Given the description of an element on the screen output the (x, y) to click on. 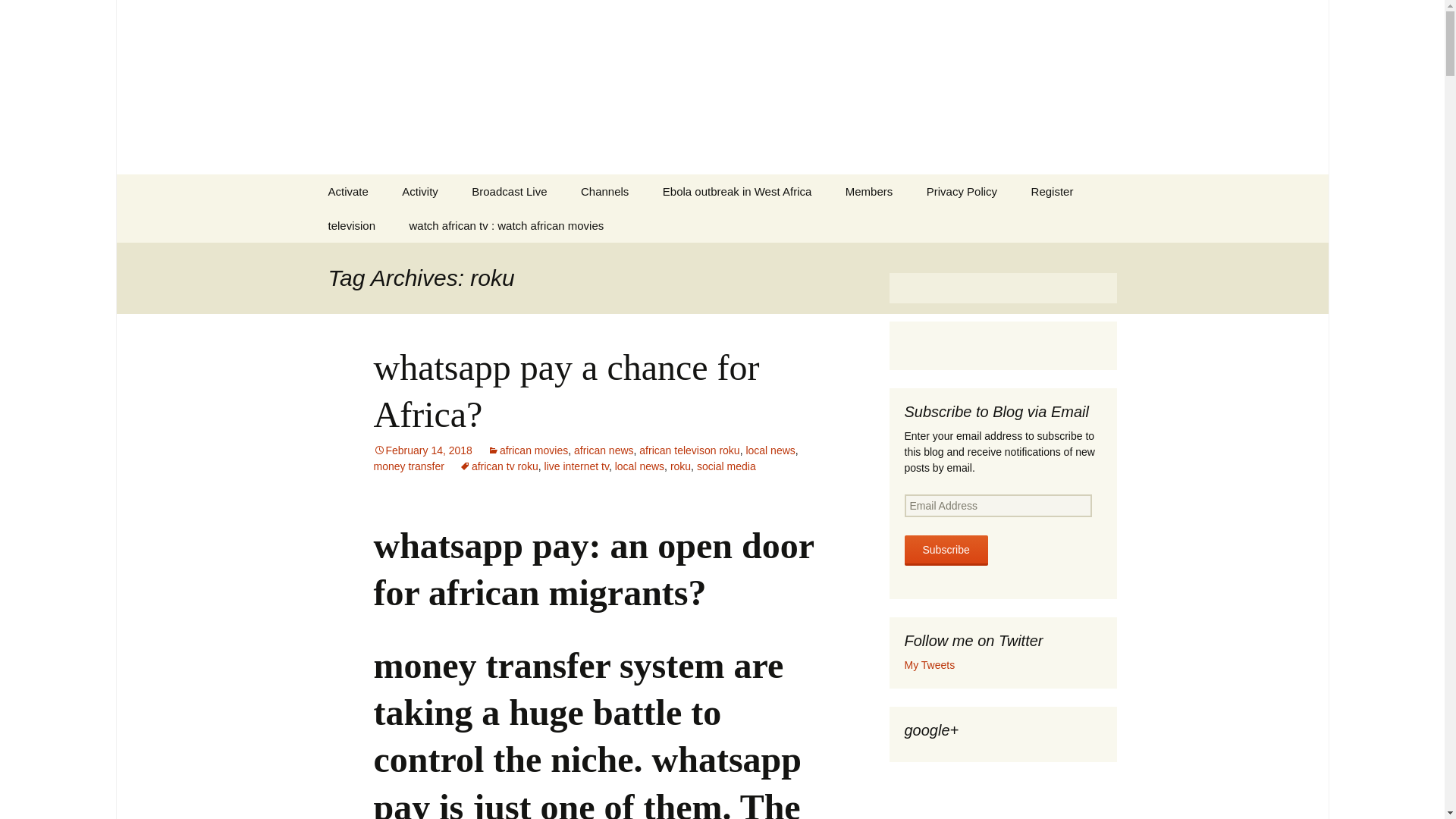
whatsapp pay a chance for Africa? (565, 390)
Permalink to whatsapp pay a chance for Africa? (421, 450)
Channels (604, 191)
Register (1052, 191)
Activate (347, 191)
Search (18, 15)
roku (679, 466)
here (662, 78)
Close (1046, 26)
